Given the description of an element on the screen output the (x, y) to click on. 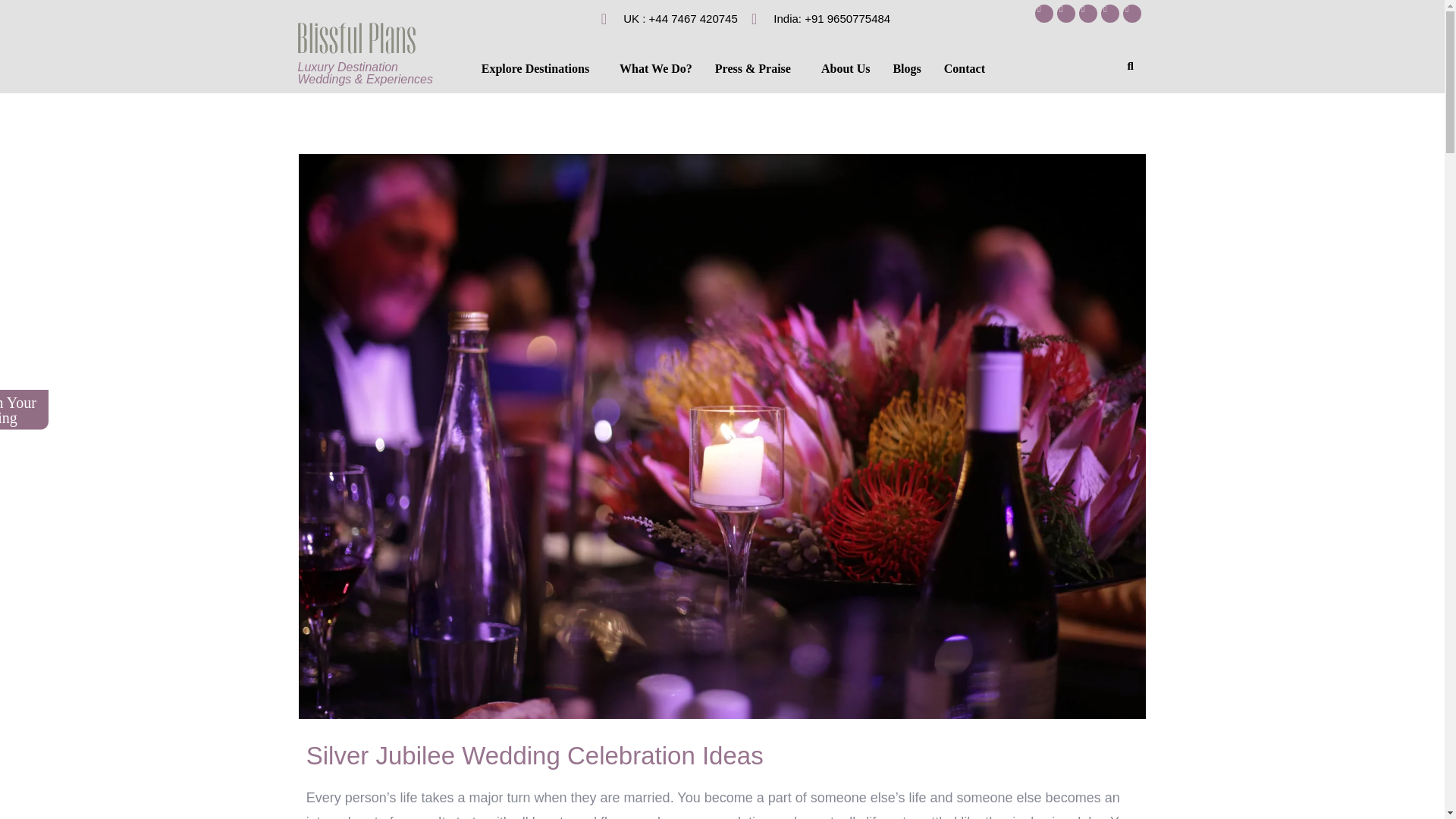
Explore Destinations (539, 68)
